Given the description of an element on the screen output the (x, y) to click on. 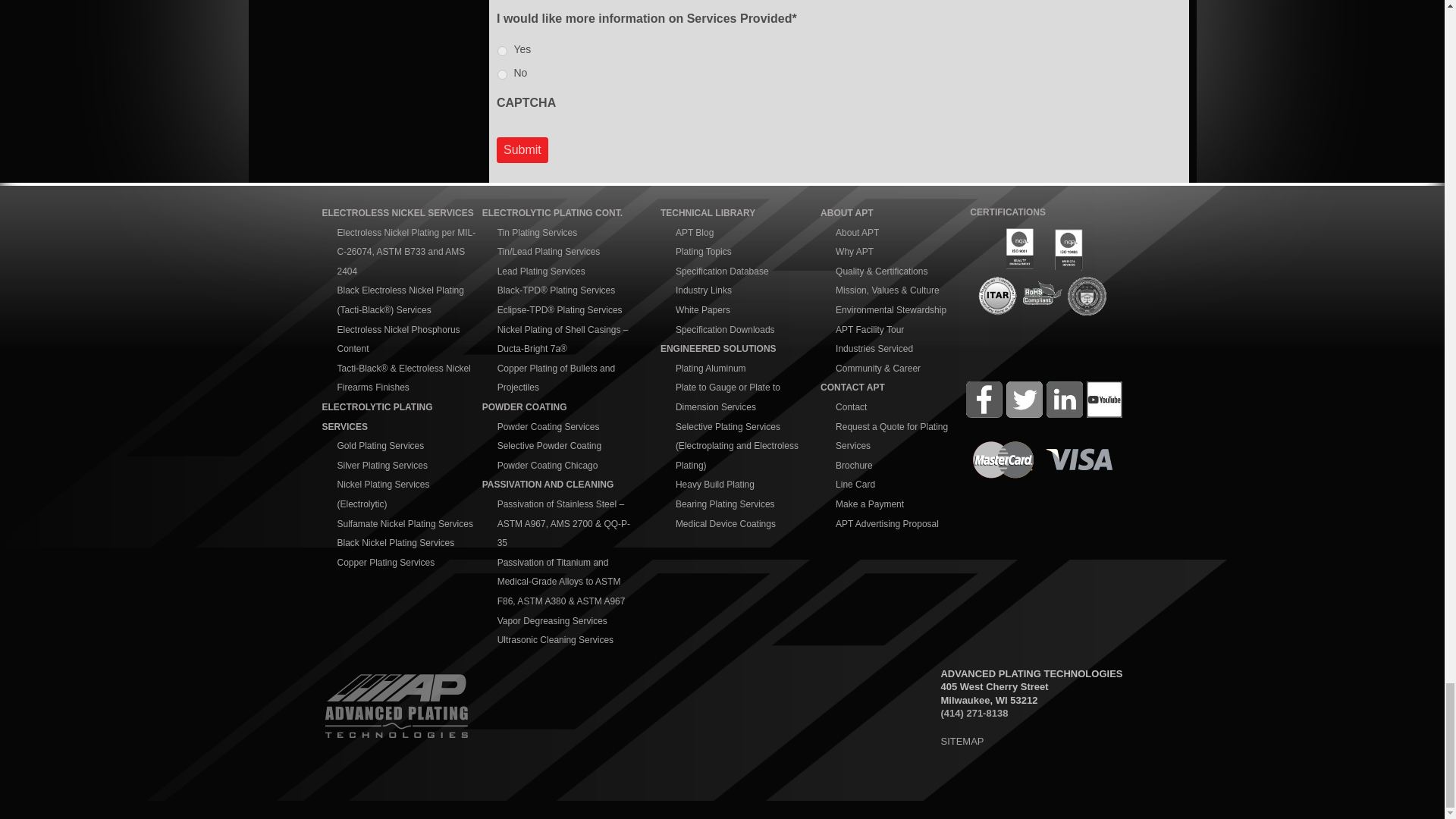
Submit (522, 149)
Yes (501, 50)
No (501, 74)
